Given the description of an element on the screen output the (x, y) to click on. 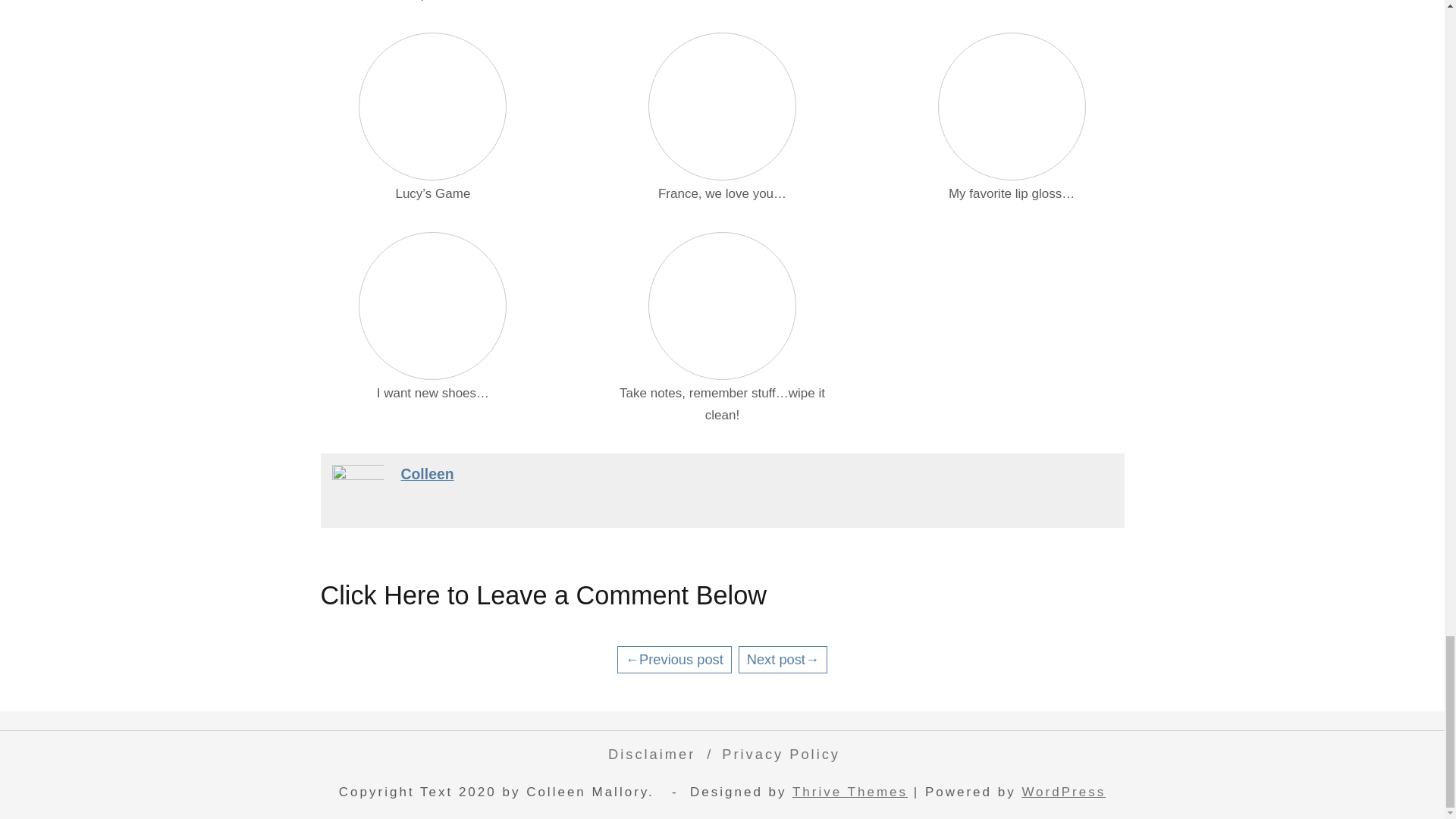
Disclaimer (647, 754)
Privacy Policy (776, 754)
WordPress (1063, 791)
Colleen (426, 474)
Thrive Themes (849, 791)
